Given the description of an element on the screen output the (x, y) to click on. 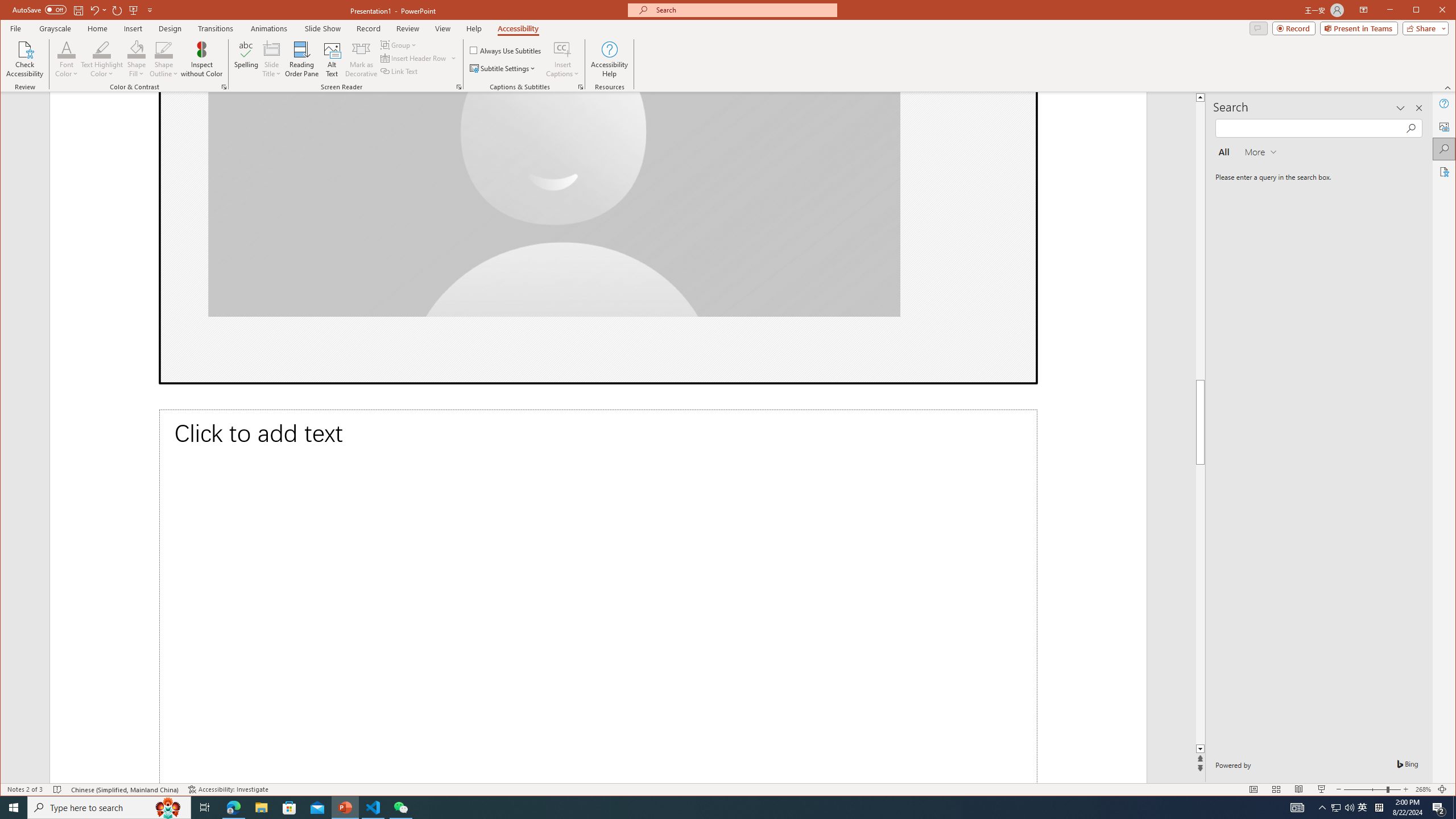
Color & Contrast (223, 86)
